Given the description of an element on the screen output the (x, y) to click on. 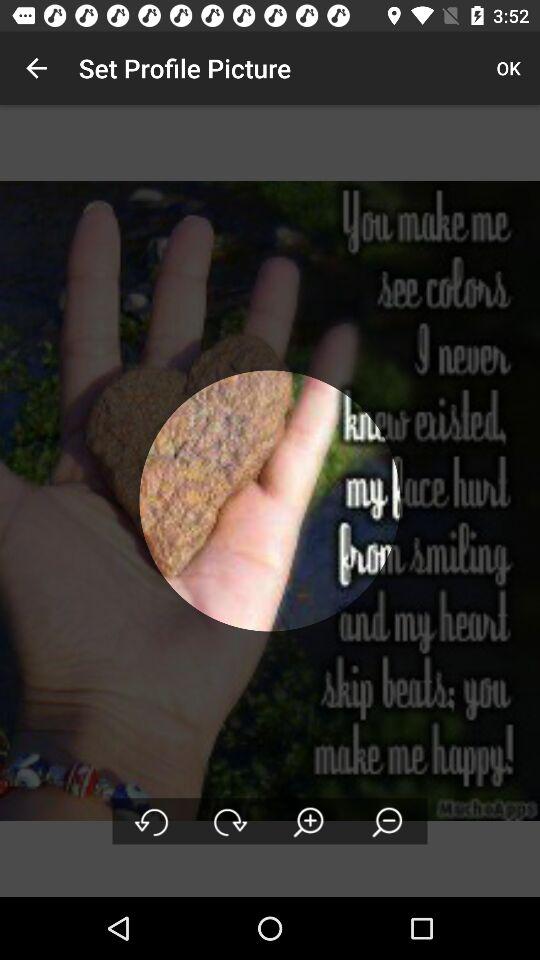
swipe to the ok icon (508, 67)
